Given the description of an element on the screen output the (x, y) to click on. 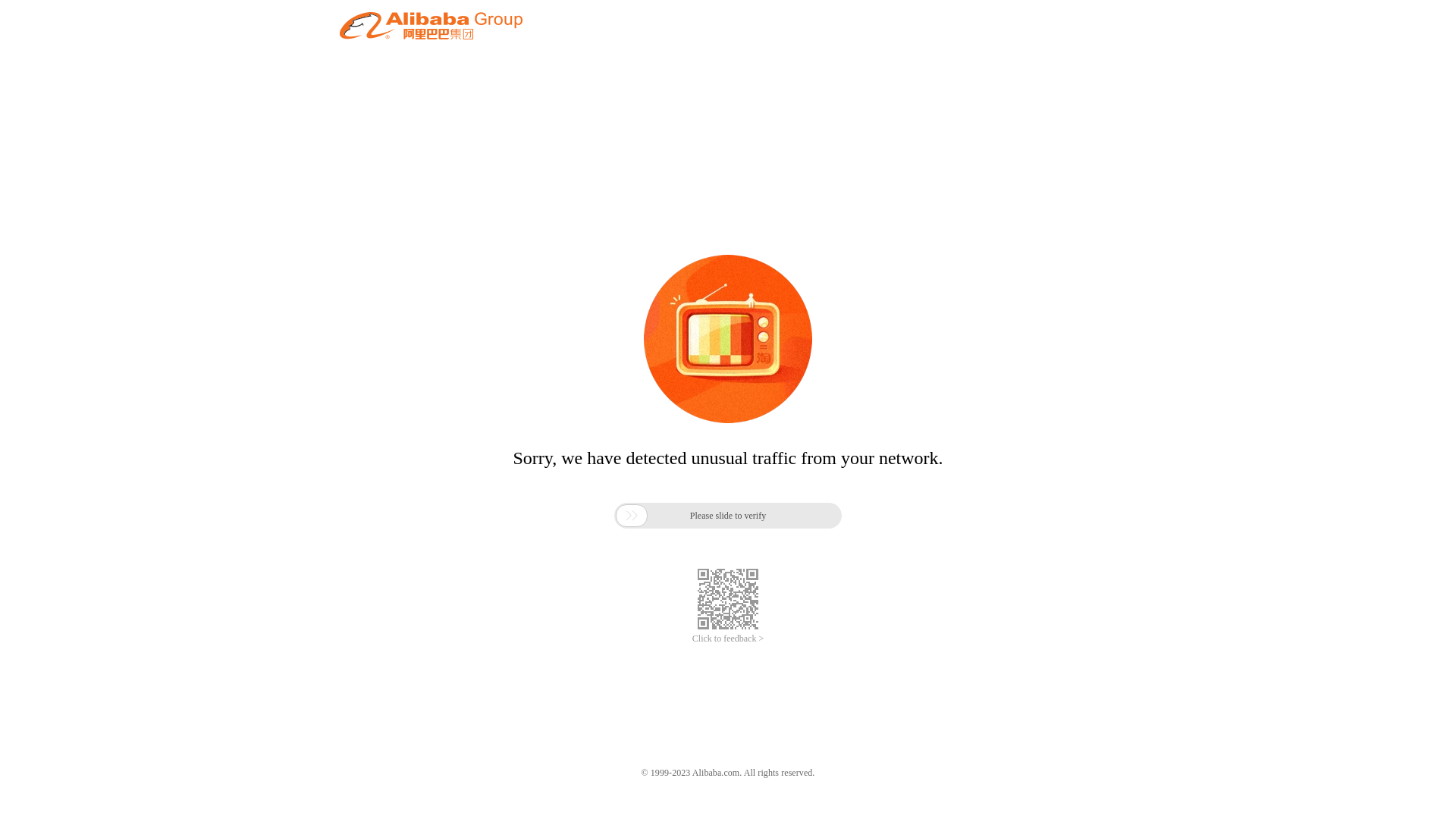
Click to feedback > Element type: text (727, 638)
